Given the description of an element on the screen output the (x, y) to click on. 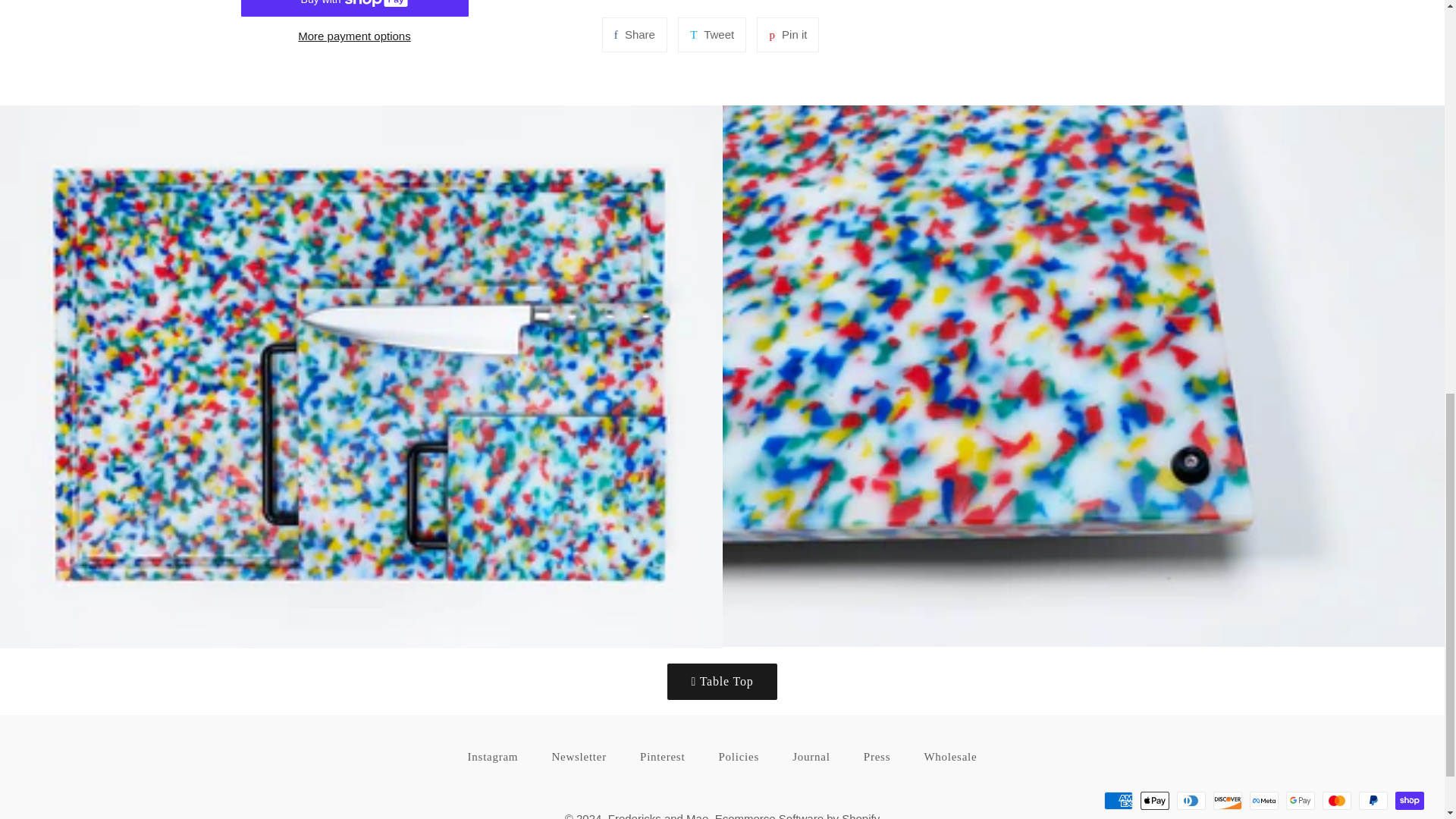
More payment options (711, 34)
Policies (354, 35)
Meta Pay (738, 757)
Mastercard (1263, 800)
Tweet on Twitter (1336, 800)
American Express (711, 34)
Pin on Pinterest (1117, 800)
Apple Pay (787, 34)
Share on Facebook (787, 34)
Table Top (1154, 800)
Newsletter (634, 34)
Ecommerce Software by Shopify (721, 681)
Shop Pay (578, 757)
